Given the description of an element on the screen output the (x, y) to click on. 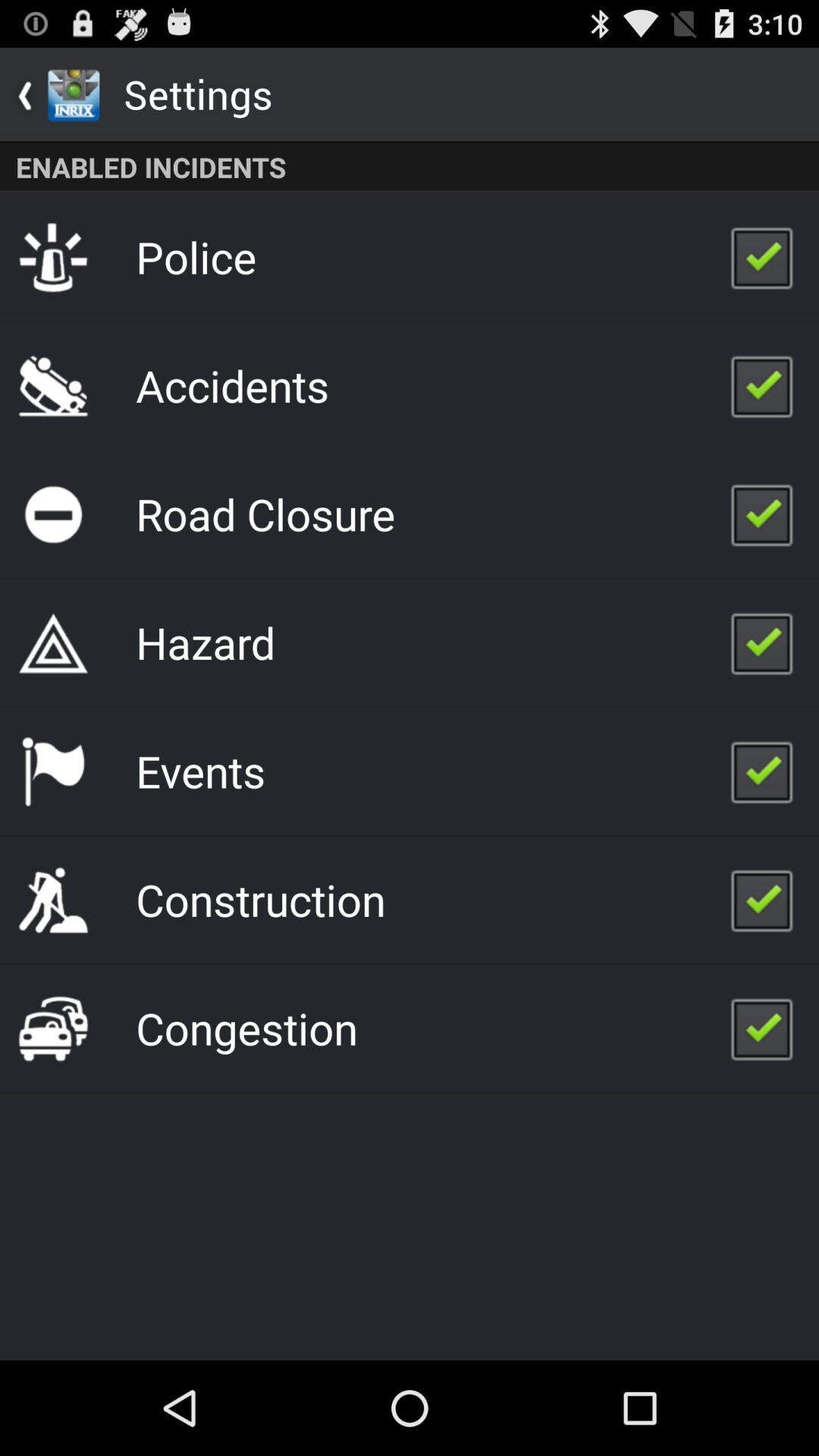
tap hazard app (205, 642)
